Given the description of an element on the screen output the (x, y) to click on. 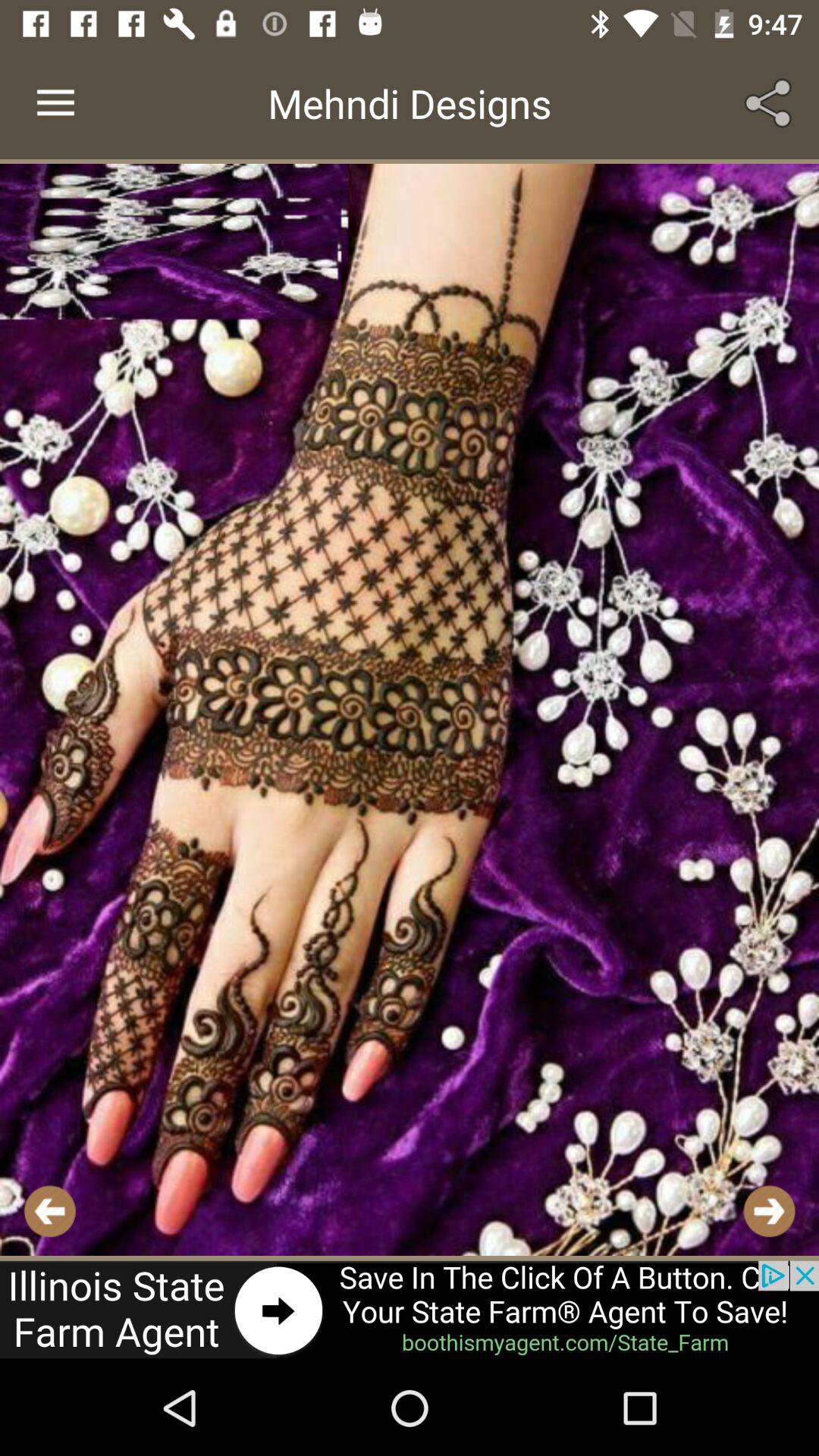
mehendi design screen (409, 709)
